Given the description of an element on the screen output the (x, y) to click on. 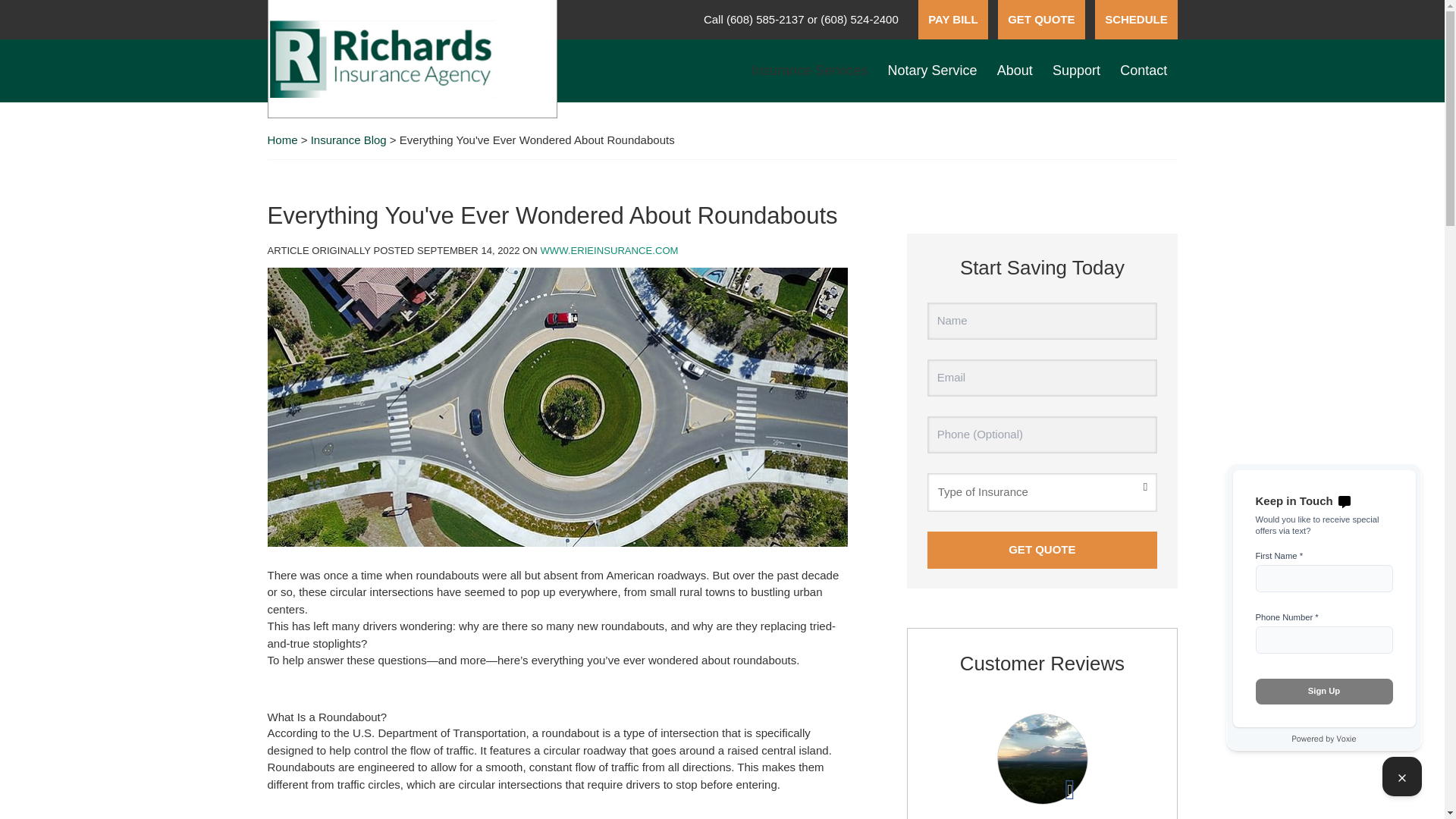
PAY BILL (953, 19)
GET QUOTE (1040, 19)
Insurance Services (809, 70)
Notary Service (932, 70)
About (1014, 70)
SCHEDULE (1135, 19)
Get Quote (1041, 549)
Home Page (412, 58)
Richards Insurance Agency (381, 58)
